Given the description of an element on the screen output the (x, y) to click on. 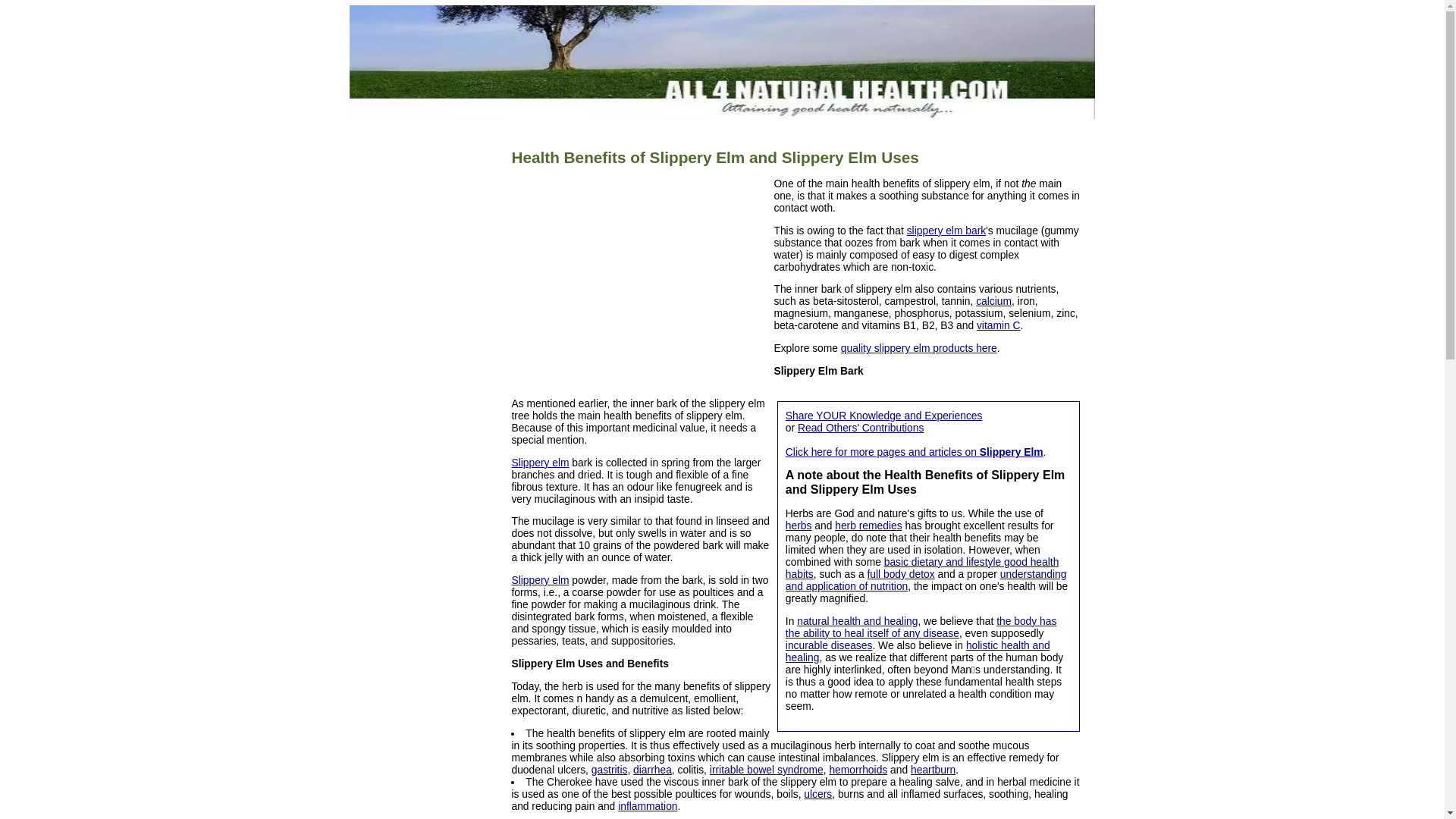
quality slippery elm products here (919, 347)
vitamin C (998, 325)
inflammation (647, 806)
full body detox (900, 573)
Read Others' Contributions (860, 427)
understanding and application of nutrition (926, 580)
holistic health and healing (917, 651)
slippery elm bark (947, 230)
hemorrhoids (857, 769)
gastritis (609, 769)
diarrhea (652, 769)
calcium (993, 300)
herbs (799, 525)
the body has the ability to heal itself of any disease (921, 627)
irritable bowel syndrome (767, 769)
